Given the description of an element on the screen output the (x, y) to click on. 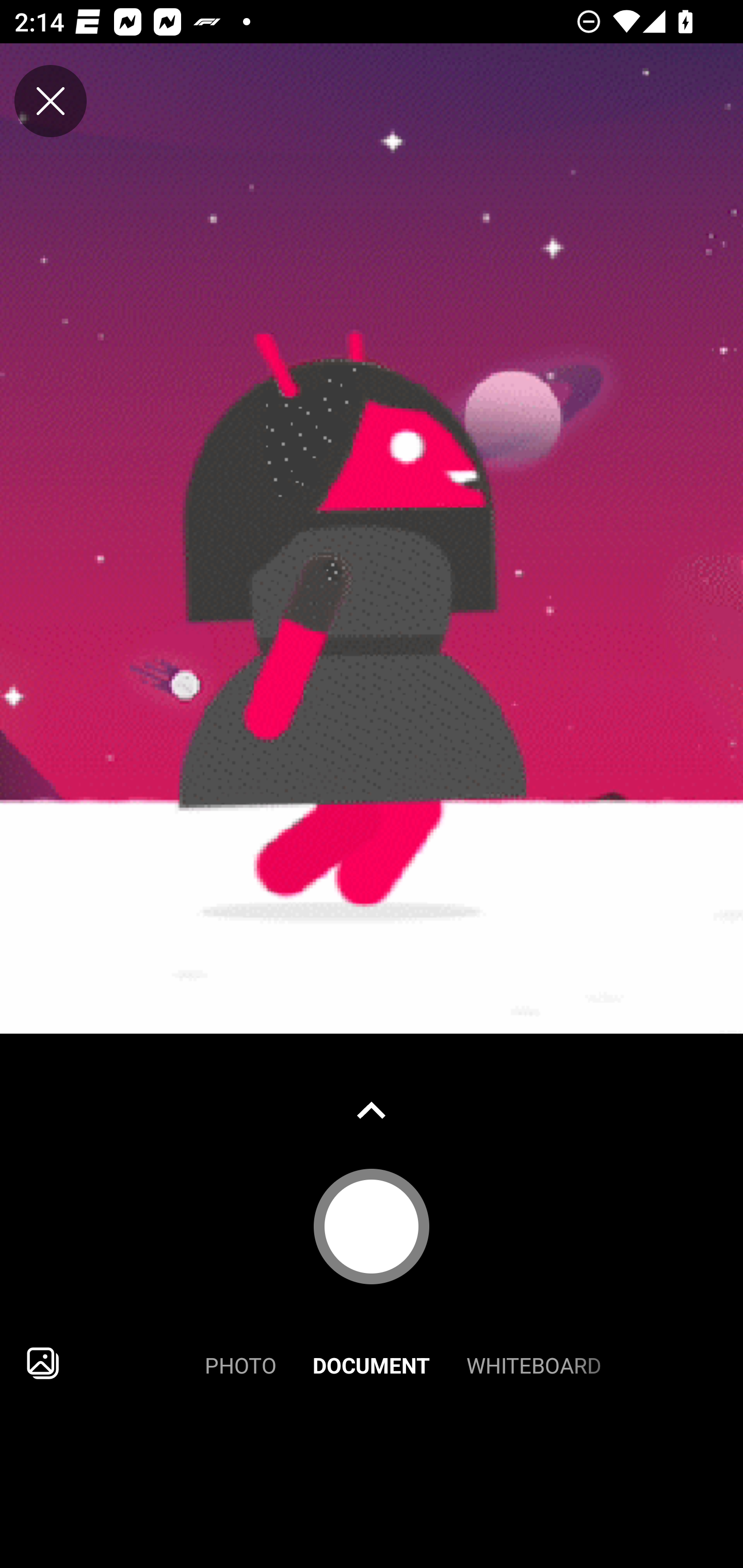
Close (50, 101)
Show gallery (371, 1110)
Capture (371, 1226)
Import (43, 1363)
PHOTO (240, 1362)
DOCUMENT (371, 1362)
WHITEBOARD (533, 1362)
